Given the description of an element on the screen output the (x, y) to click on. 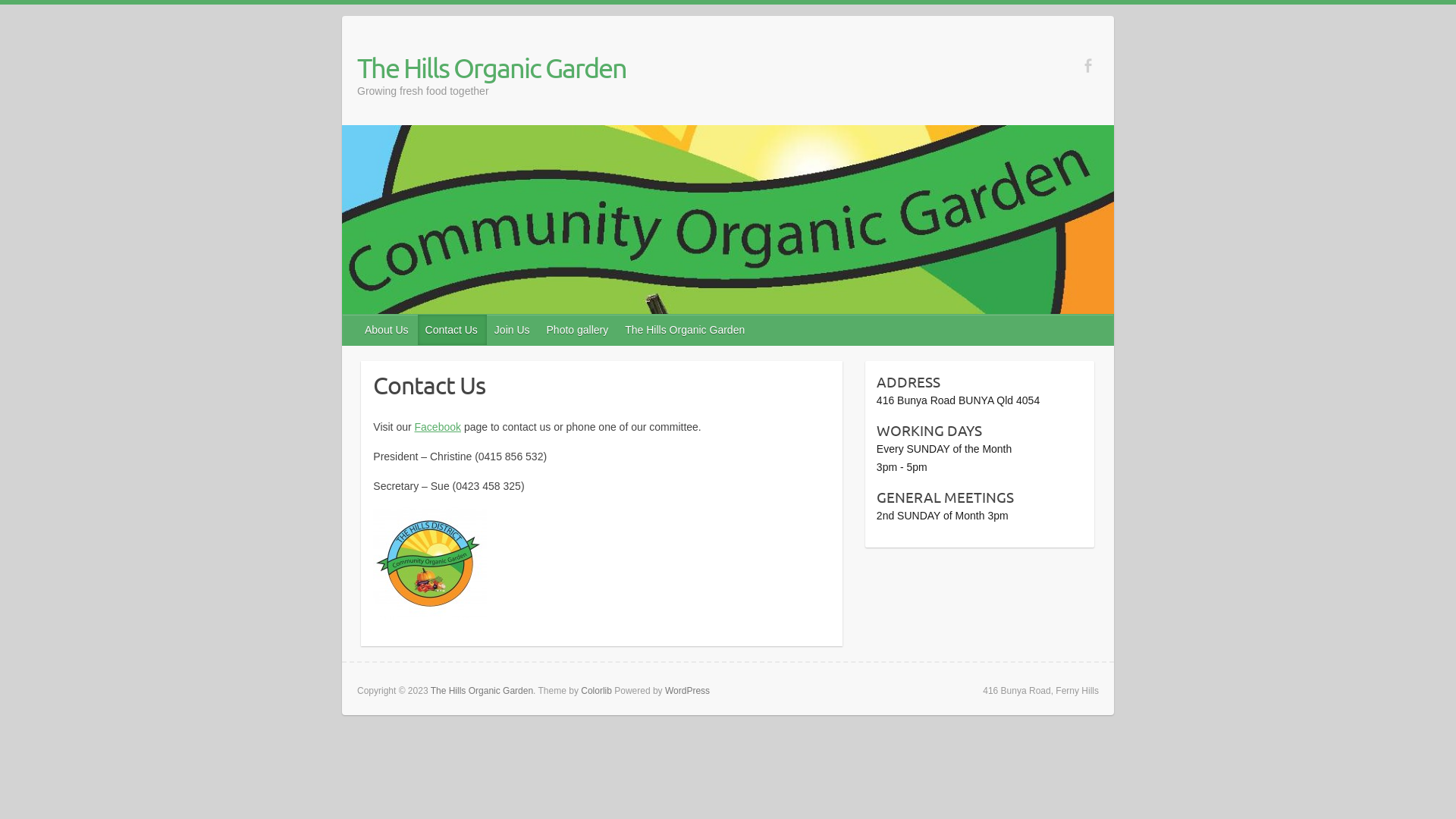
Contact Us Element type: text (451, 329)
The Hills Organic Garden on Facebook Element type: hover (1087, 65)
Facebook Element type: text (437, 426)
WordPress Element type: text (687, 690)
Join Us Element type: text (512, 329)
The Hills Organic Garden Element type: text (481, 690)
Photo gallery Element type: text (578, 329)
The Hills Organic Garden Element type: text (491, 67)
Skip to content Element type: text (0, 4)
Colorlib Element type: text (595, 690)
About Us Element type: text (387, 329)
The Hills Organic Garden Element type: text (685, 329)
